Given the description of an element on the screen output the (x, y) to click on. 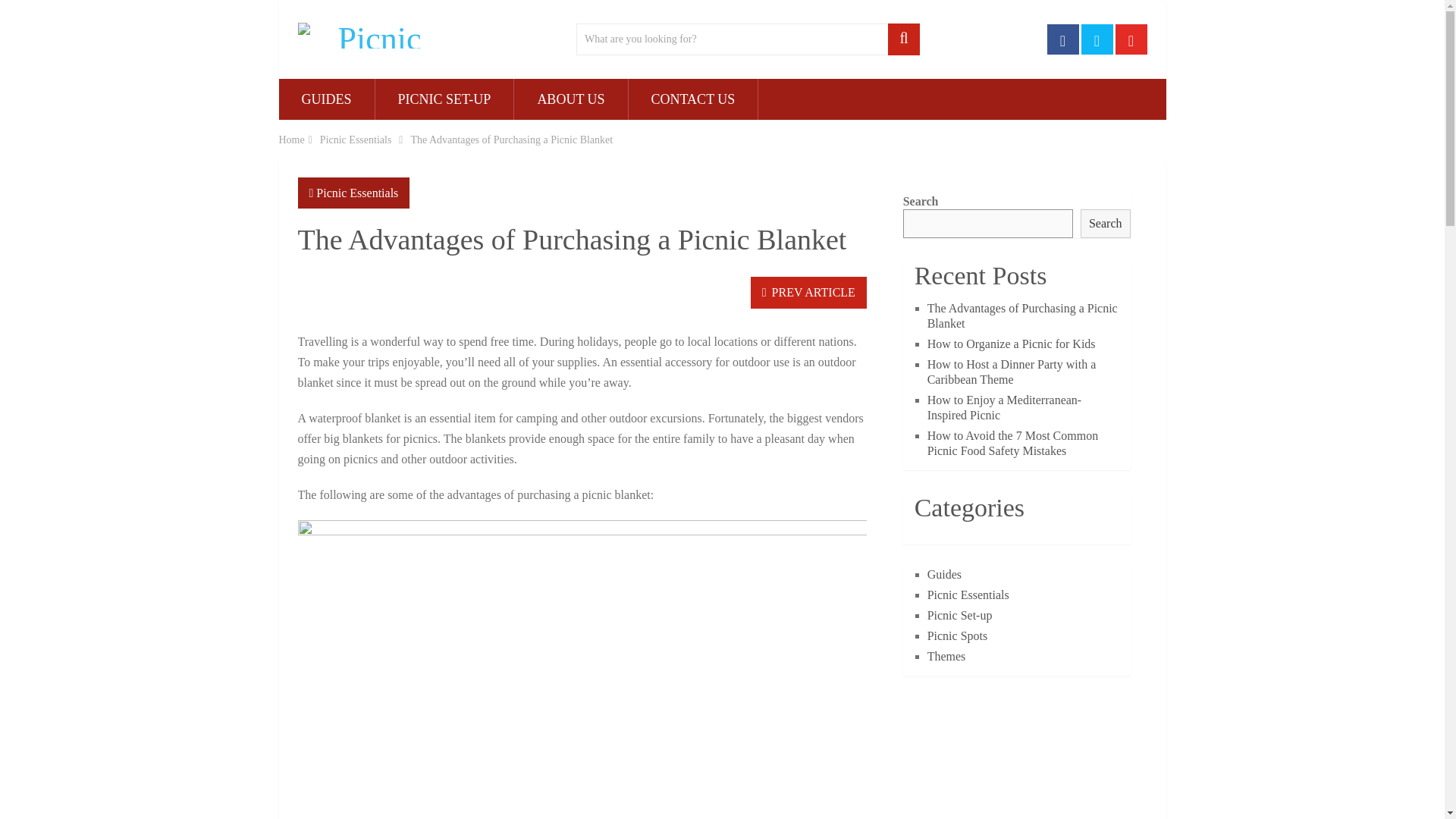
View all posts in Picnic Essentials (356, 192)
Search (1105, 223)
PREV ARTICLE (808, 292)
Themes (946, 656)
Home (291, 139)
How to Organize a Picnic for Kids (1011, 343)
How to Host a Dinner Party with a Caribbean Theme (1011, 371)
Picnic Essentials (356, 192)
Picnic Essentials (355, 139)
How to Enjoy a Mediterranean-Inspired Picnic (1004, 407)
The Advantages of Purchasing a Picnic Blanket (1022, 316)
GUIDES (326, 98)
CONTACT US (693, 98)
How to Avoid the 7 Most Common Picnic Food Safety Mistakes (1013, 443)
PICNIC SET-UP (443, 98)
